Given the description of an element on the screen output the (x, y) to click on. 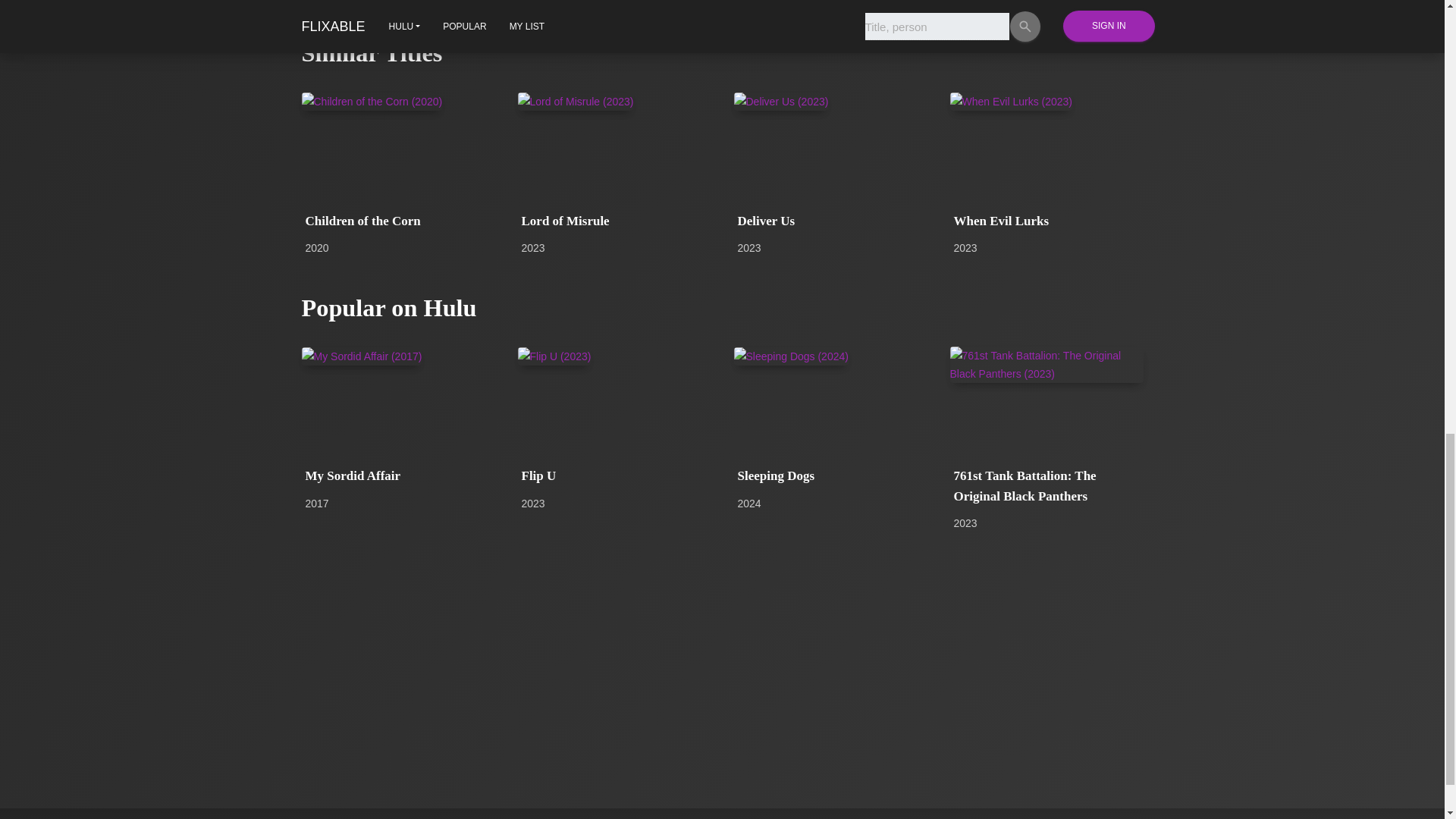
Children of the Corn (397, 220)
When Evil Lurks (1046, 220)
Deliver Us (829, 220)
Sleeping Dogs (829, 476)
Flip U (614, 476)
Lord of Misrule (614, 220)
My Sordid Affair (397, 476)
761st Tank Battalion: The Original Black Panthers (1046, 486)
